Given the description of an element on the screen output the (x, y) to click on. 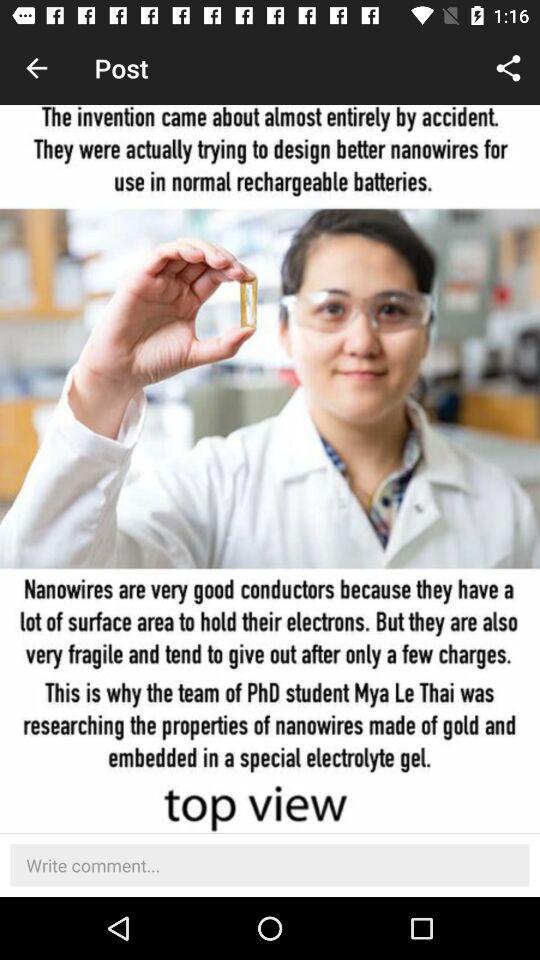
launch the item to the right of the post icon (508, 67)
